Given the description of an element on the screen output the (x, y) to click on. 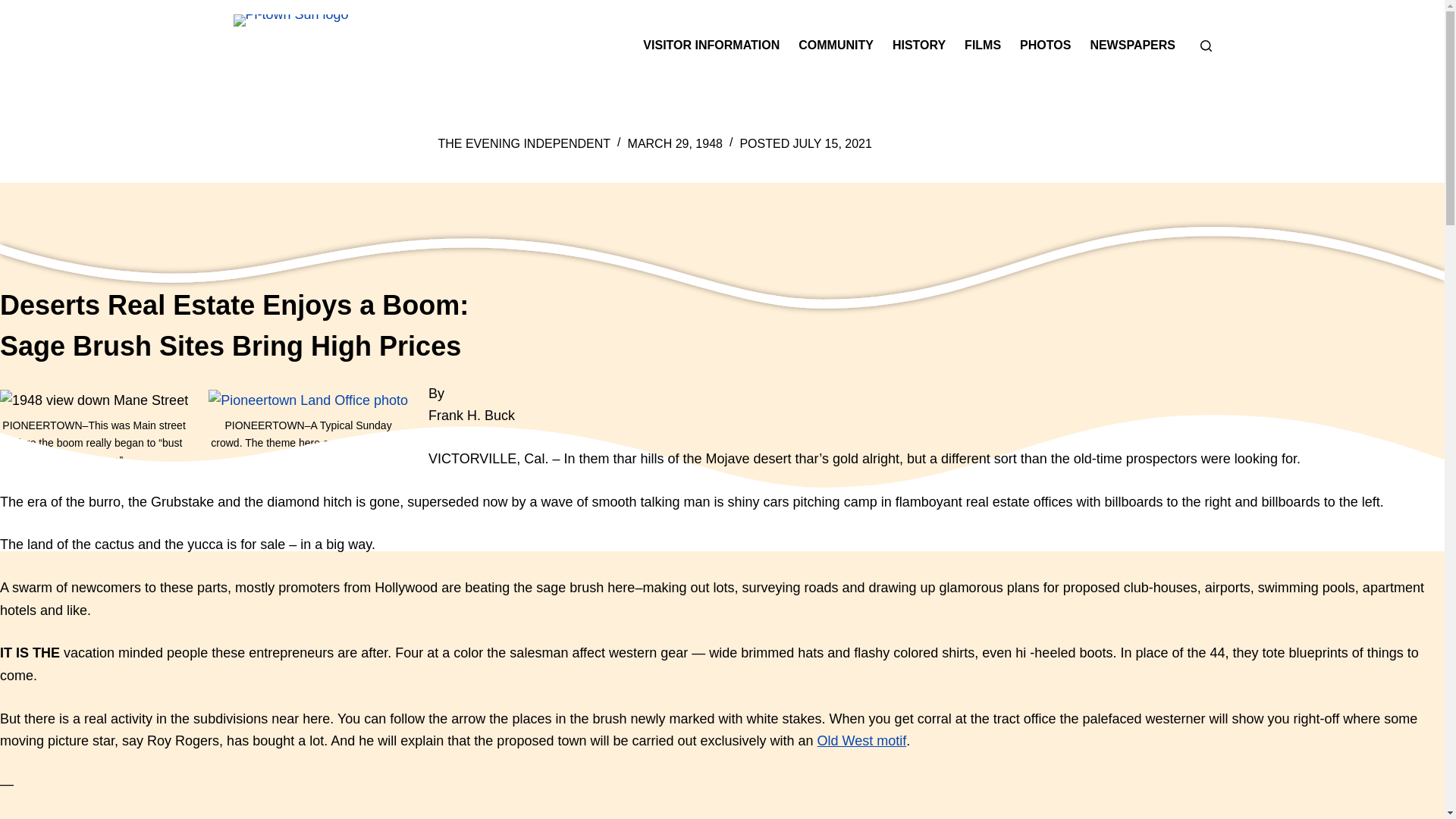
NEWSPAPERS (1132, 45)
Skip to content (15, 7)
COMMUNITY (836, 45)
THE EVENING INDEPENDENT (524, 143)
Posts by The Evening Independent (524, 143)
Old West motif (861, 740)
VISITOR INFORMATION (711, 45)
